Given the description of an element on the screen output the (x, y) to click on. 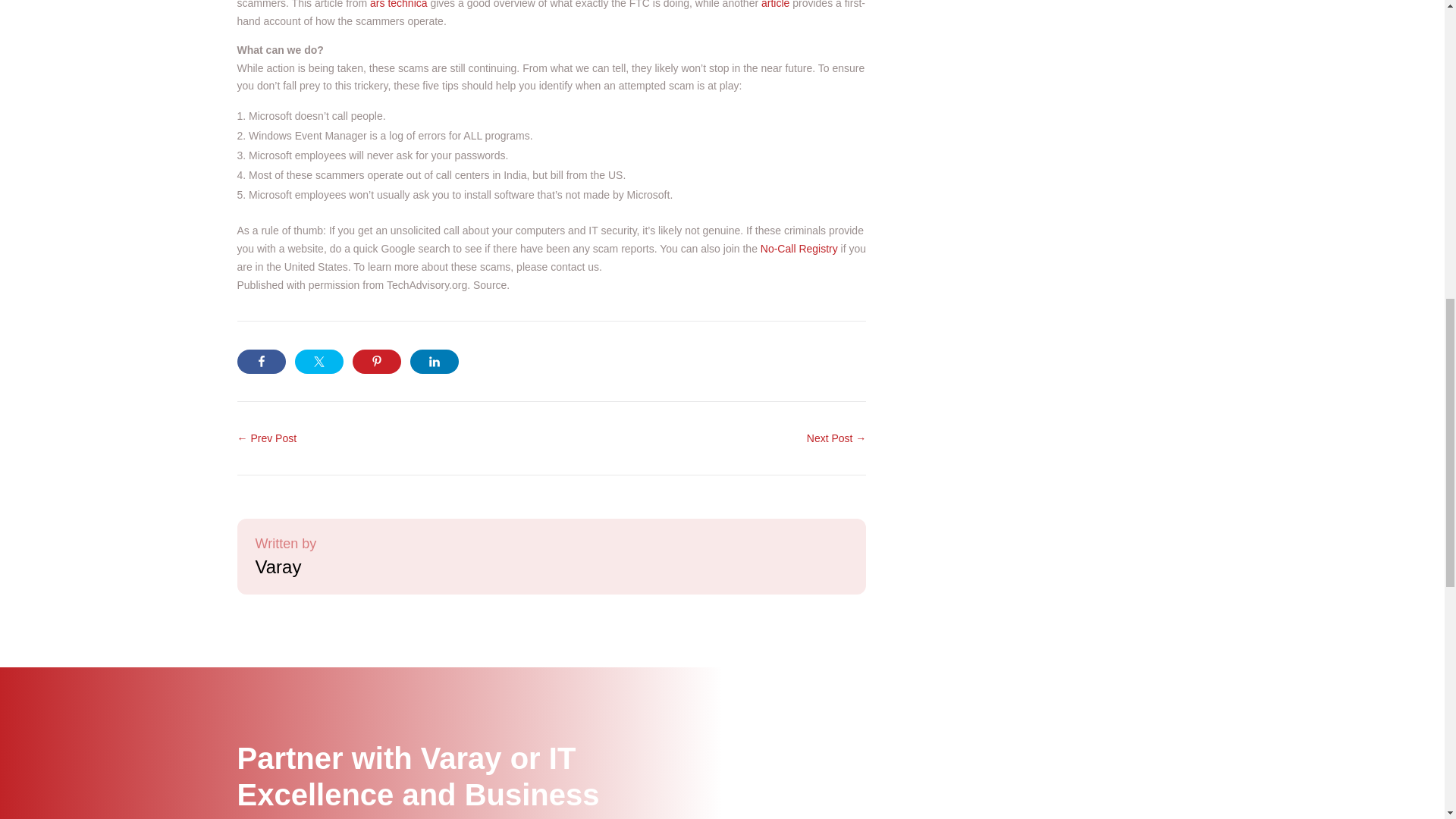
Share on Pinterest (376, 361)
Share on LinkedIn (433, 361)
ars technica (397, 4)
Share on Facebook (260, 361)
Share on Twitter (318, 361)
